Given the description of an element on the screen output the (x, y) to click on. 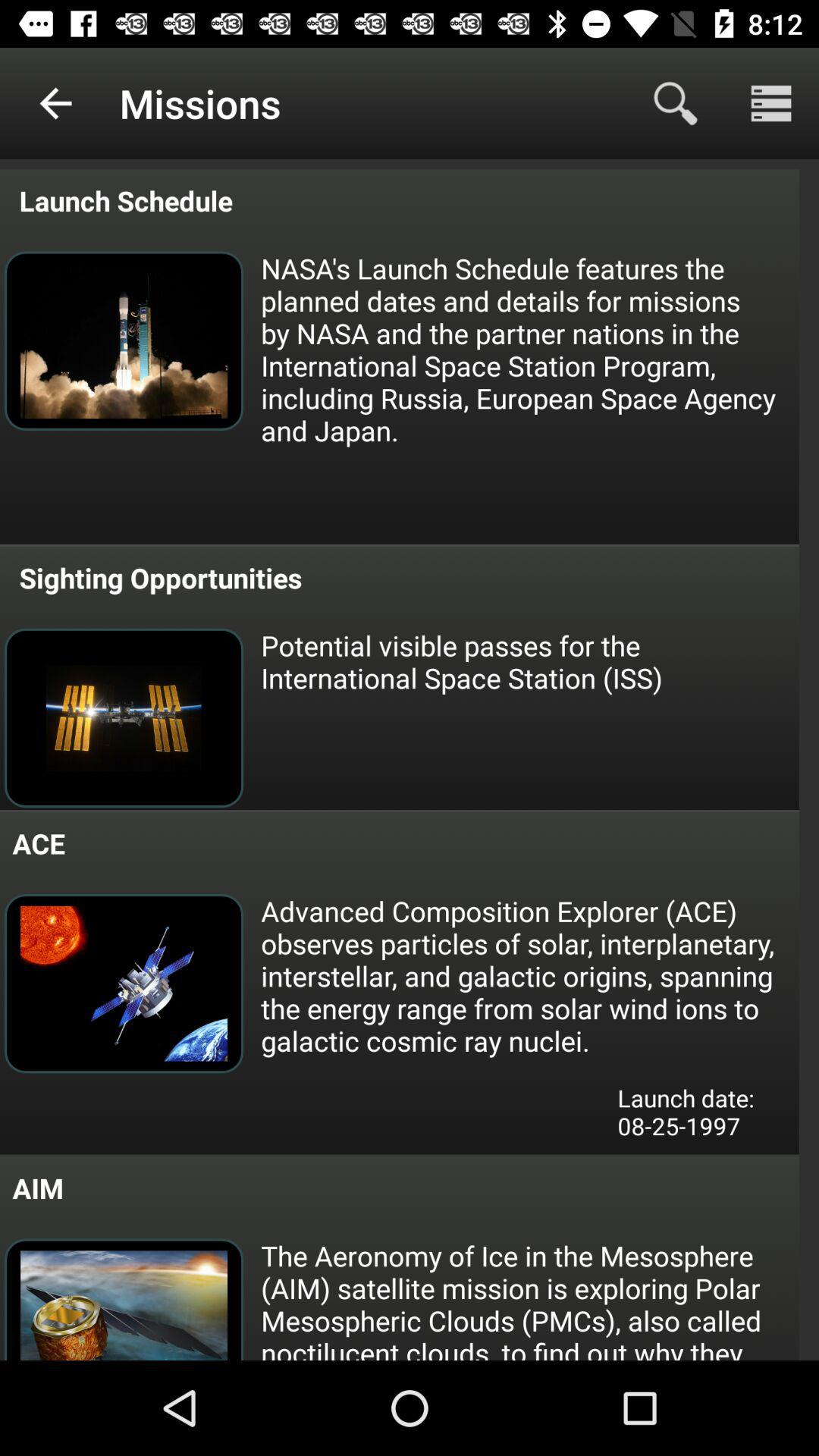
turn on icon above advanced composition explorer item (528, 661)
